Given the description of an element on the screen output the (x, y) to click on. 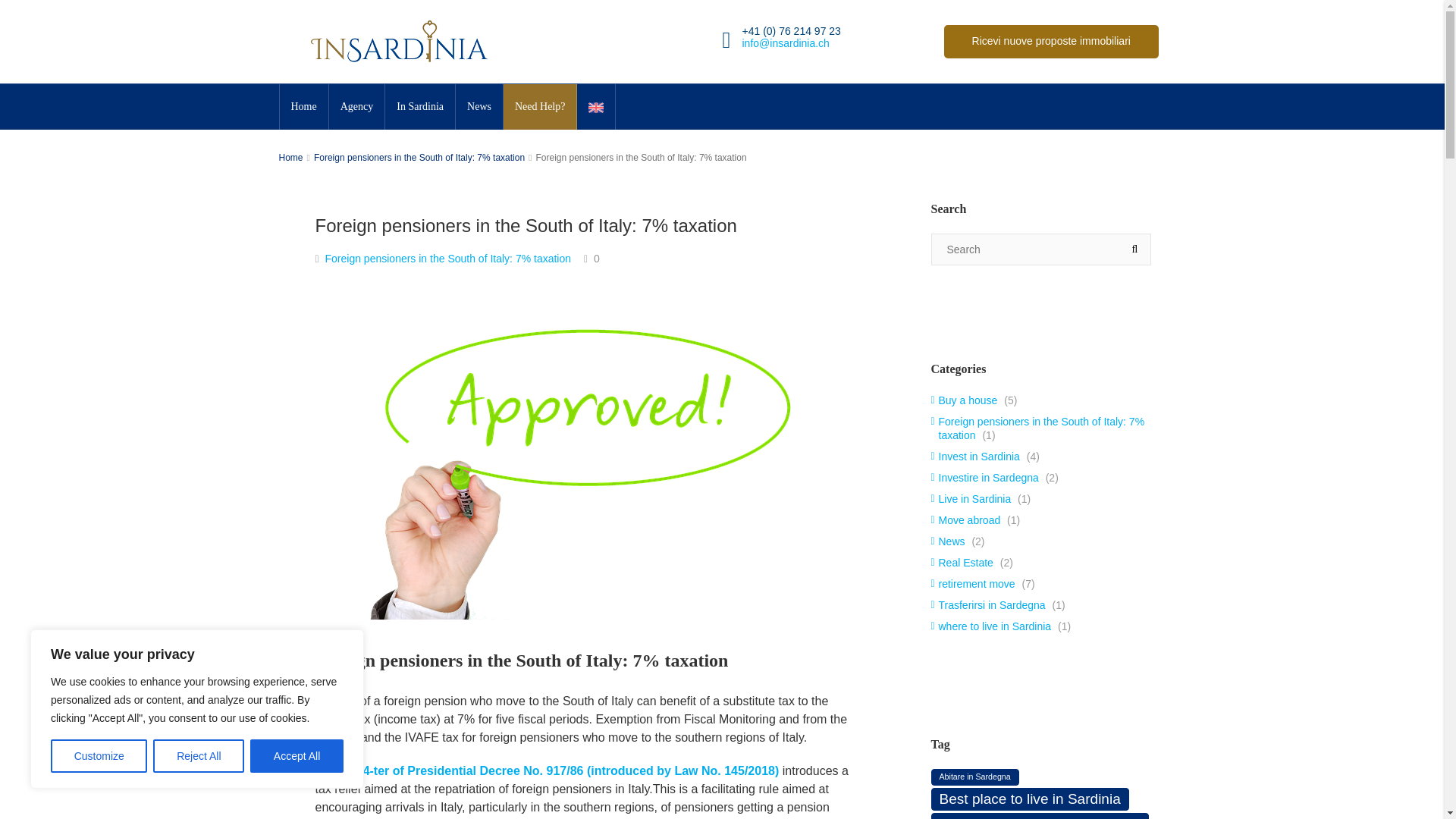
Ricevi nuove proposte immobiliari (1050, 41)
Agency (357, 106)
Accept All (296, 756)
Customize (98, 756)
Reject All (198, 756)
In Sardinia (419, 106)
Home (303, 106)
